Given the description of an element on the screen output the (x, y) to click on. 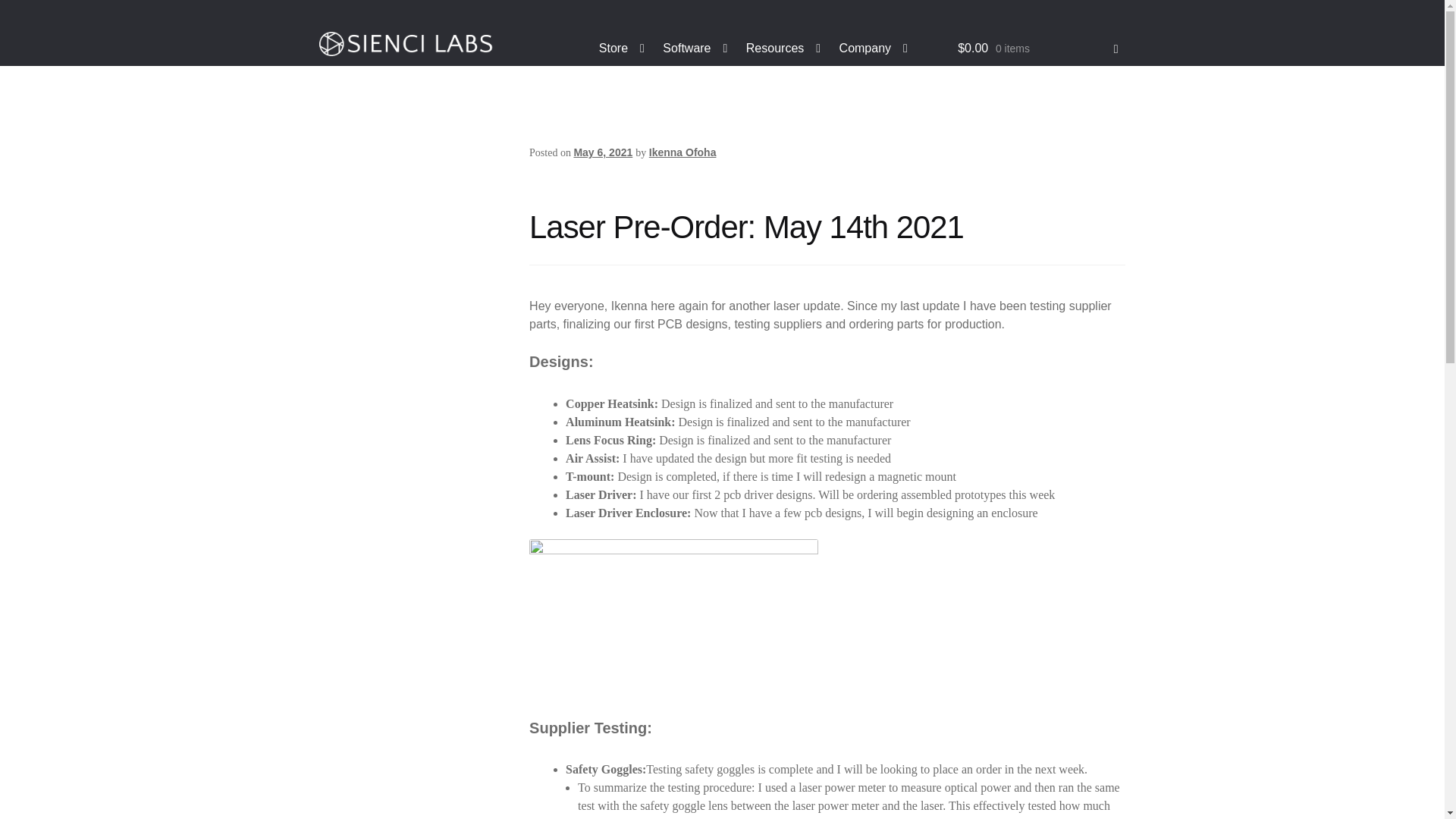
Company (873, 48)
Resources (783, 48)
View your shopping cart (1037, 48)
Software (695, 48)
Store (621, 48)
